Given the description of an element on the screen output the (x, y) to click on. 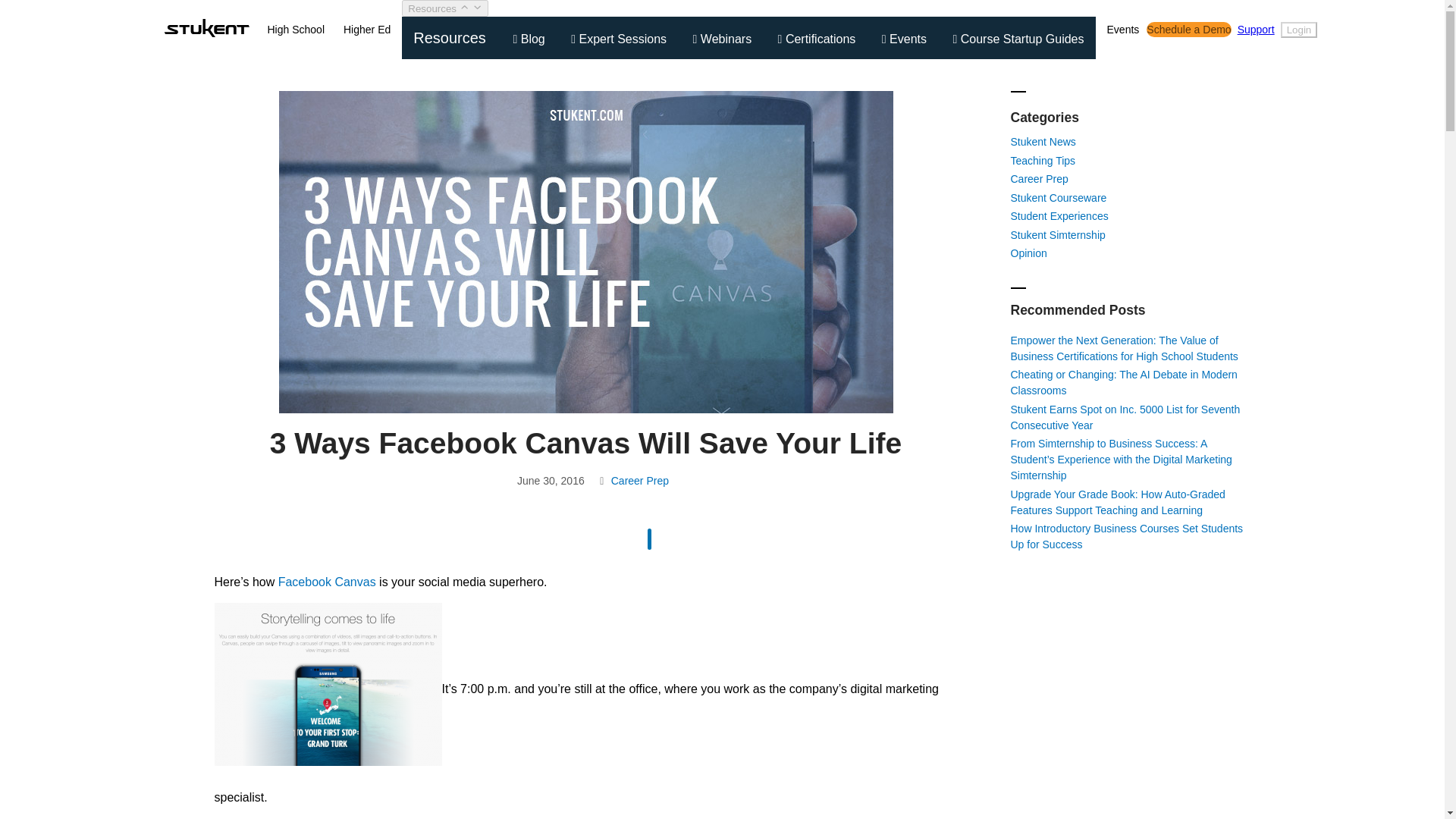
Student Experiences (1059, 215)
Higher Ed (366, 29)
Stukent News (1042, 141)
Career Prep (1038, 178)
Schedule a Demo (1188, 29)
Career Prep (639, 480)
Teaching Tips (1042, 160)
Stukent Courseware (1058, 196)
High School (295, 29)
